Given the description of an element on the screen output the (x, y) to click on. 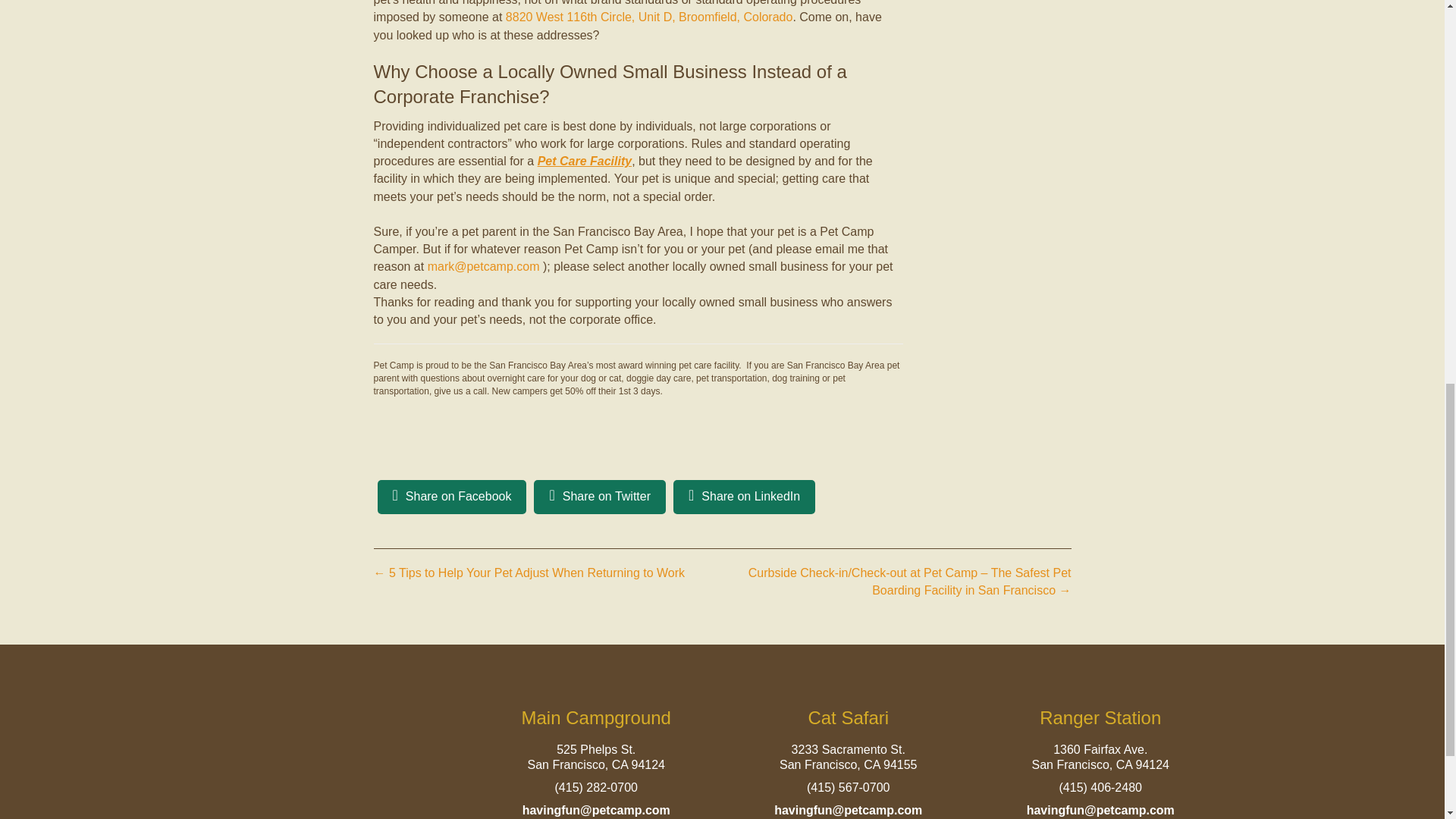
Main Campground (596, 717)
Cat Safari (848, 717)
footer-logo (343, 766)
Ranger Station (1099, 717)
